Given the description of an element on the screen output the (x, y) to click on. 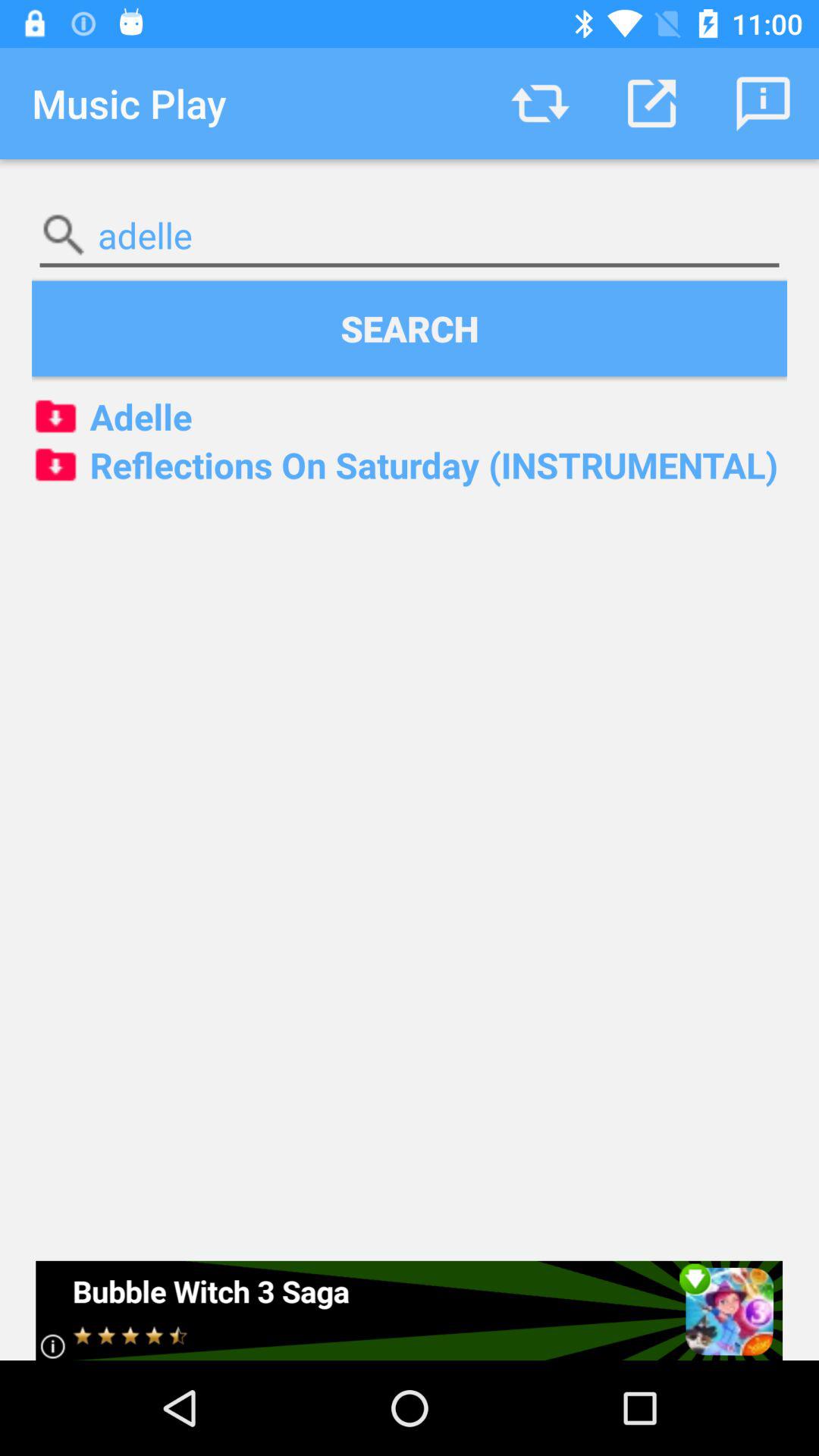
click icon above adelle icon (651, 103)
